Given the description of an element on the screen output the (x, y) to click on. 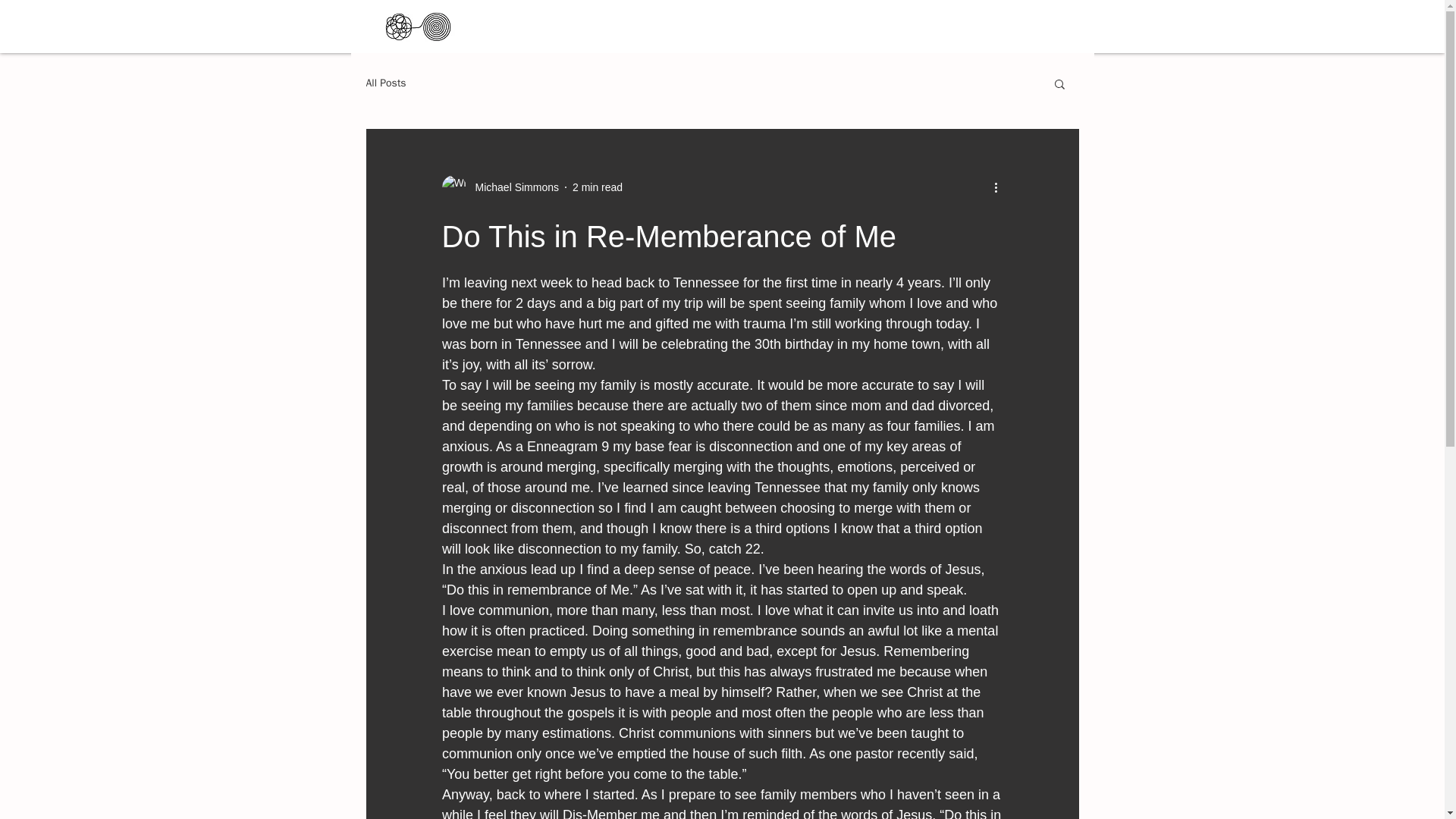
Michael Simmons (499, 187)
Michael Simmons (511, 186)
All Posts (385, 83)
2 min read (597, 186)
